Given the description of an element on the screen output the (x, y) to click on. 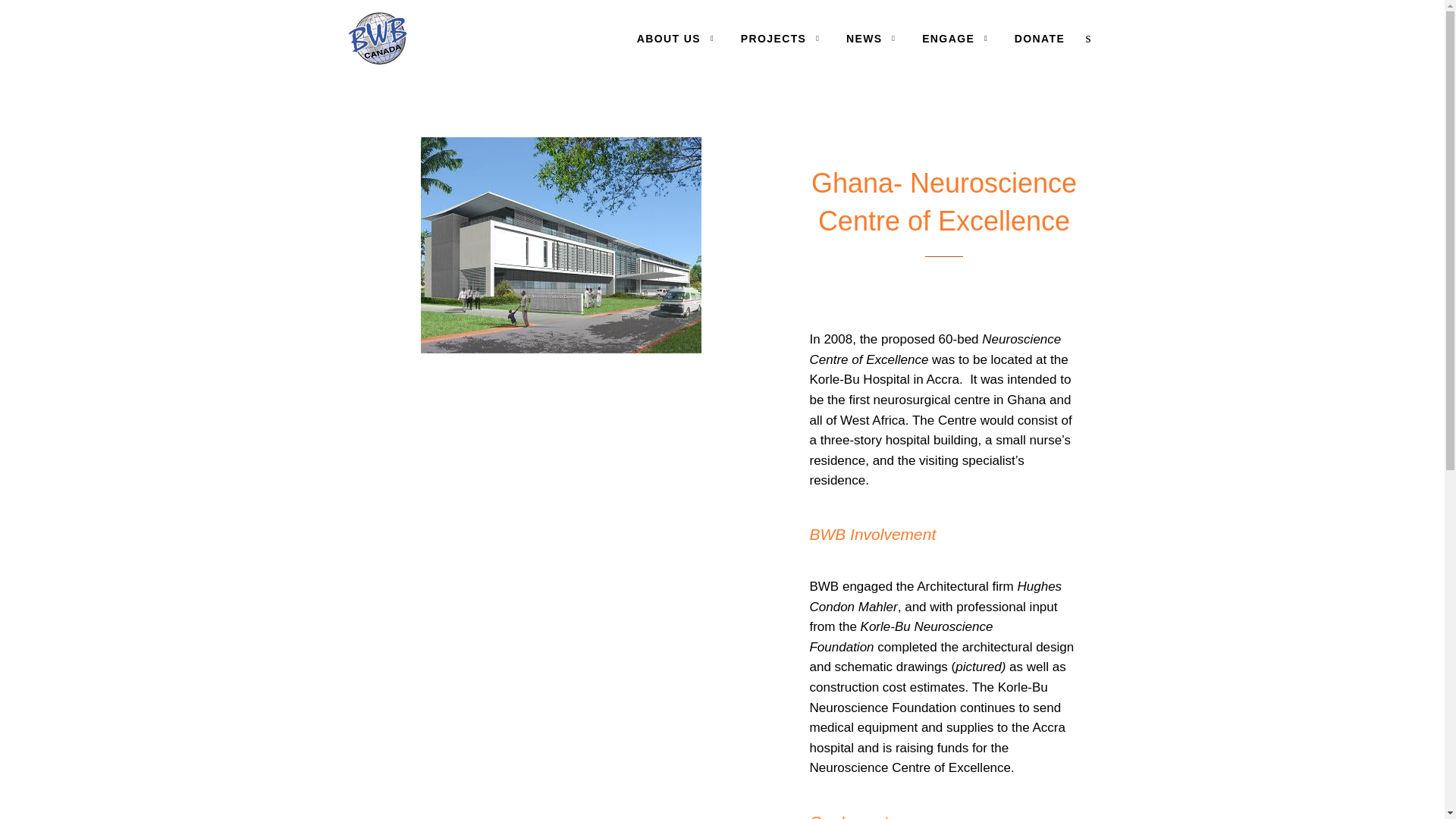
ENGAGE (954, 38)
PROJECTS (780, 38)
ABOUT US (675, 38)
NEWS (870, 38)
